Given the description of an element on the screen output the (x, y) to click on. 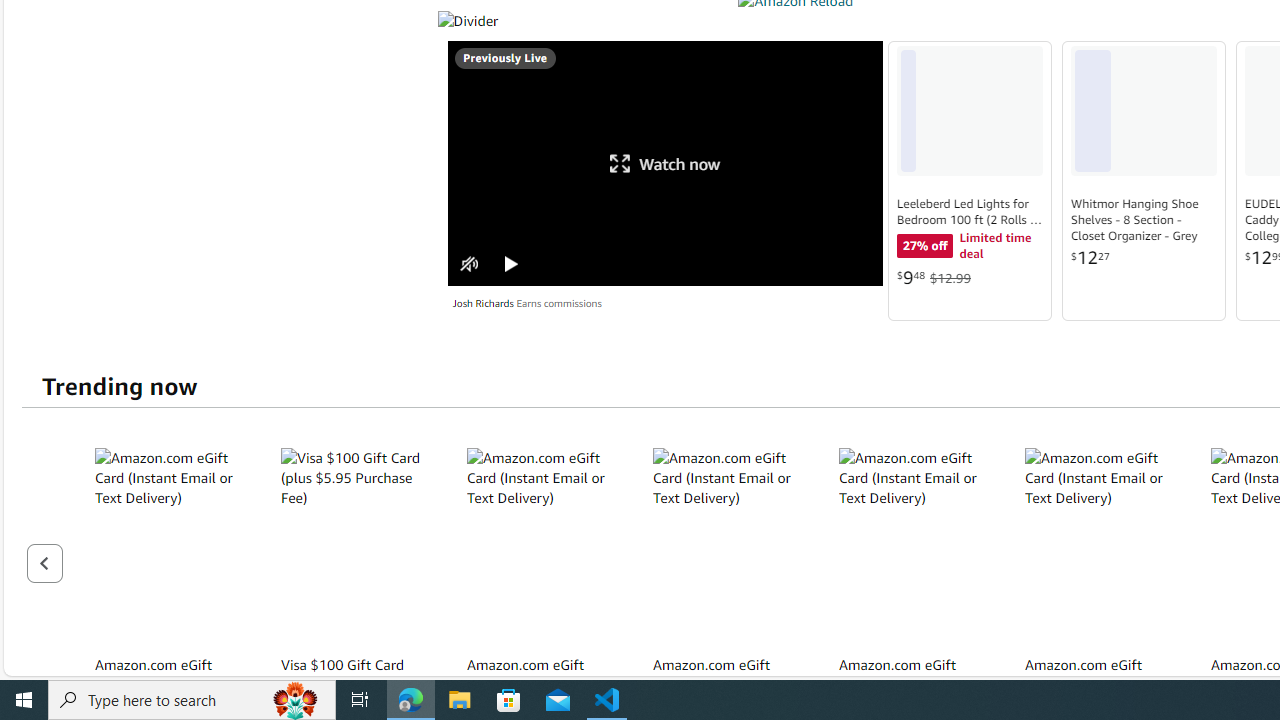
Watch now (665, 163)
Earns commissions (558, 303)
Tap Watch now to see broadcast in immersive view (665, 163)
Previous page (44, 562)
Visa $100 Gift Card (plus $5.95 Purchase Fee) (356, 546)
Unmute (469, 264)
Amazon.com eGift Card (Instant Email or Text Delivery) (1100, 546)
